Given the description of an element on the screen output the (x, y) to click on. 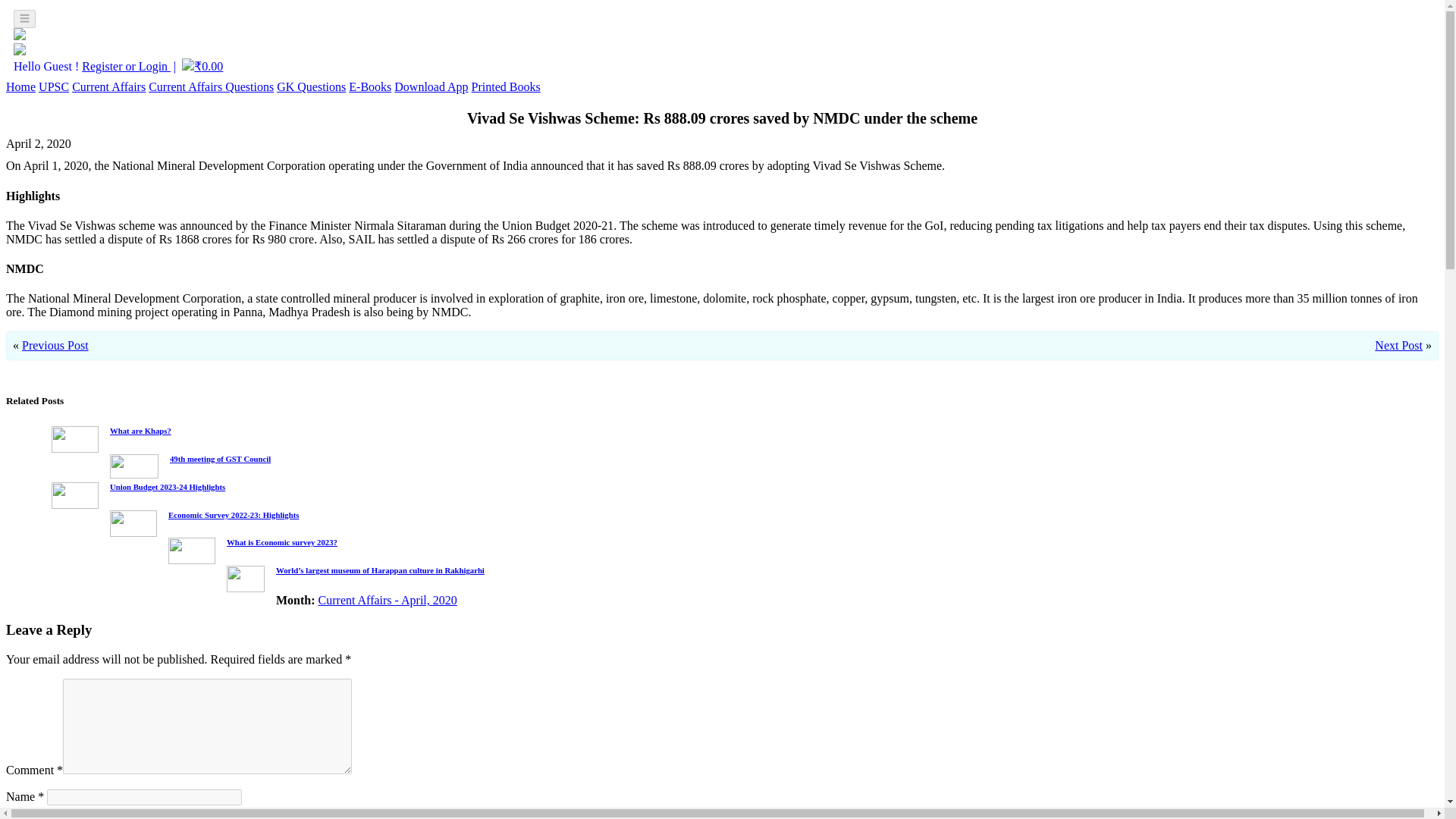
UPSC (53, 86)
Union Budget 2023-24 Highlights (167, 486)
49th meeting of GST Council (220, 458)
Economic Survey 2022-23: Highlights (233, 513)
Home (19, 86)
What is Economic survey 2023? (282, 542)
E-Books (370, 86)
Current Affairs - April, 2020 (387, 599)
Previous Post (54, 345)
GK Questions (311, 86)
49th meeting of GST Council (220, 458)
Current Affairs Questions (210, 86)
Current Affairs (108, 86)
Printed Books (505, 86)
